Given the description of an element on the screen output the (x, y) to click on. 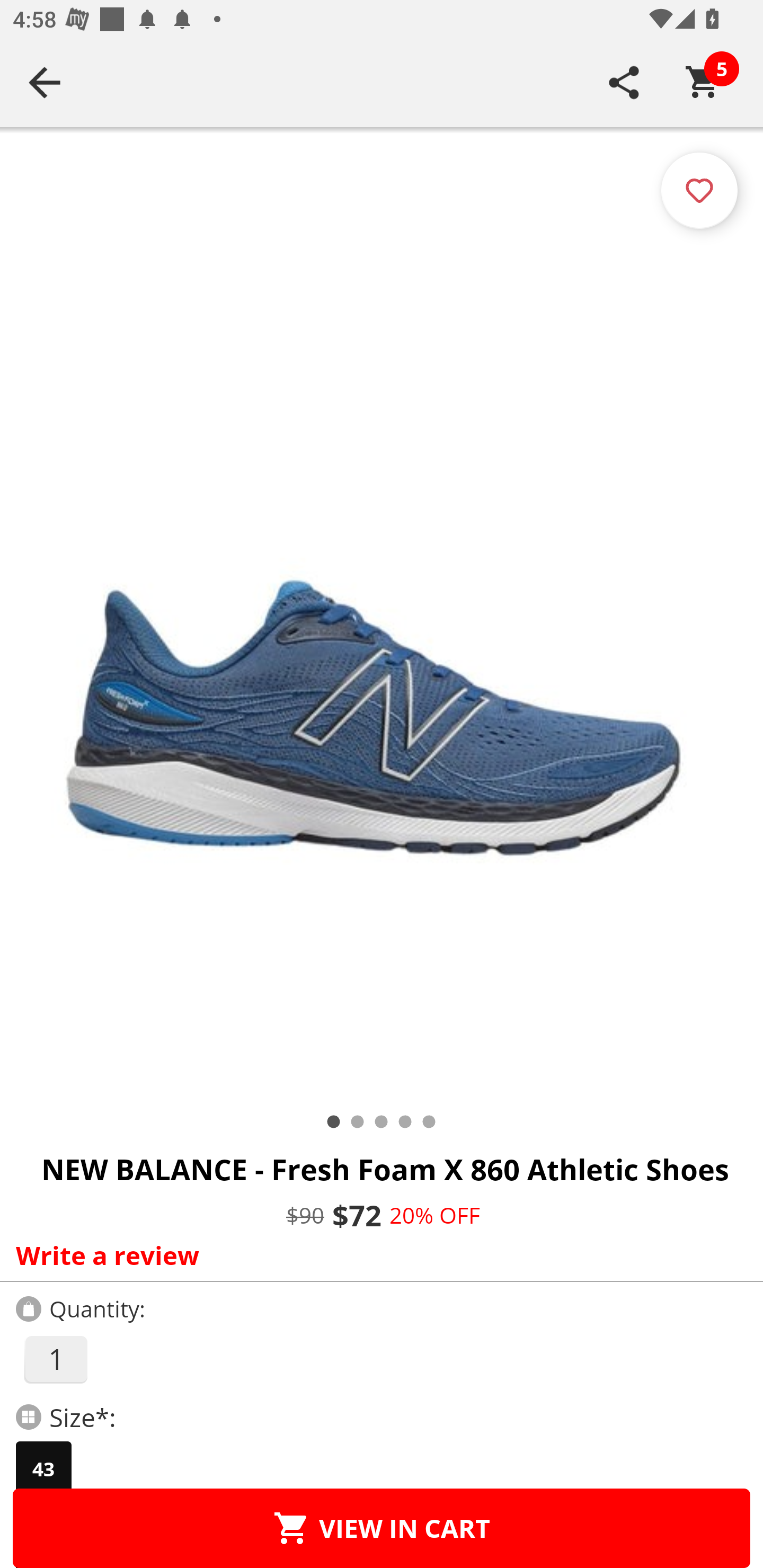
Navigate up (44, 82)
SHARE (623, 82)
Cart (703, 81)
Write a review (377, 1255)
1 (55, 1358)
43 (43, 1468)
VIEW IN CART (381, 1528)
